Given the description of an element on the screen output the (x, y) to click on. 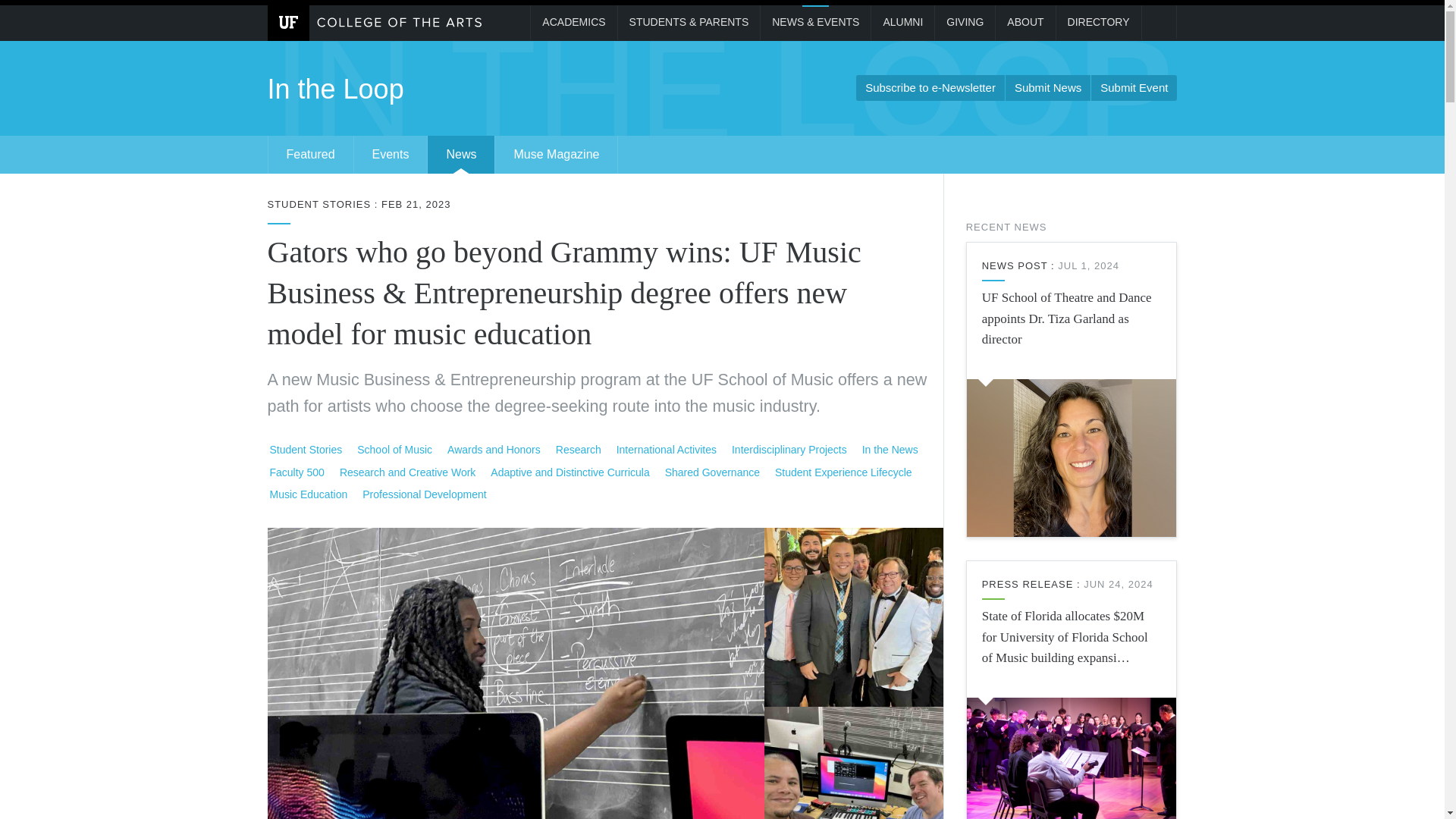
Faculty 500 (296, 472)
Research (579, 449)
ALUMNI (902, 23)
Events (390, 154)
Music Education (308, 494)
In the News (890, 449)
News (461, 154)
Research and Creative Work (408, 472)
School of Music (395, 449)
Muse Magazine (556, 154)
Adaptive and Distinctive Curricula (569, 472)
Submit Event (1133, 87)
ABOUT (1024, 23)
Shared Governance (712, 472)
Awards and Honors (494, 449)
